Given the description of an element on the screen output the (x, y) to click on. 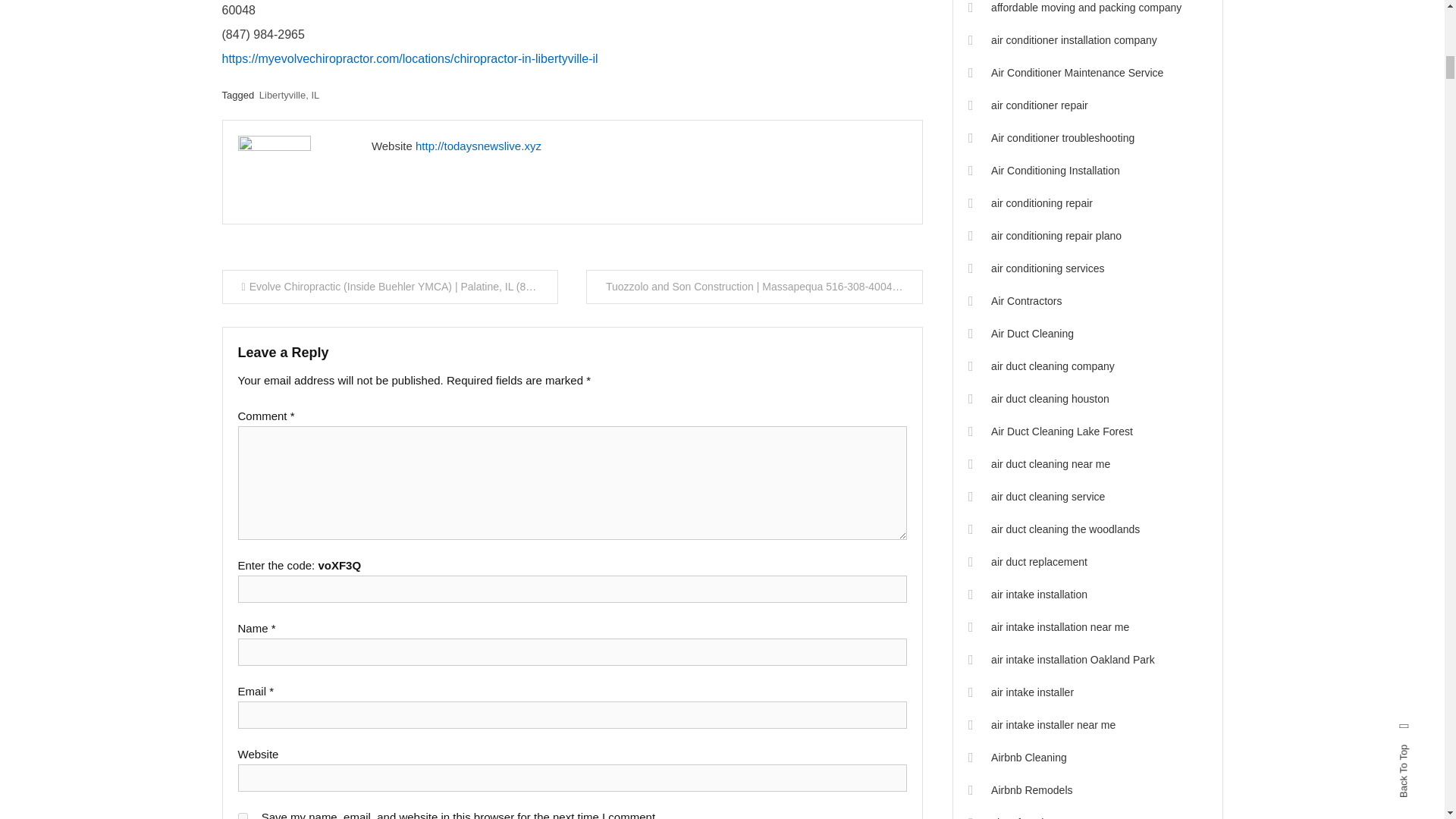
yes (242, 816)
